Given the description of an element on the screen output the (x, y) to click on. 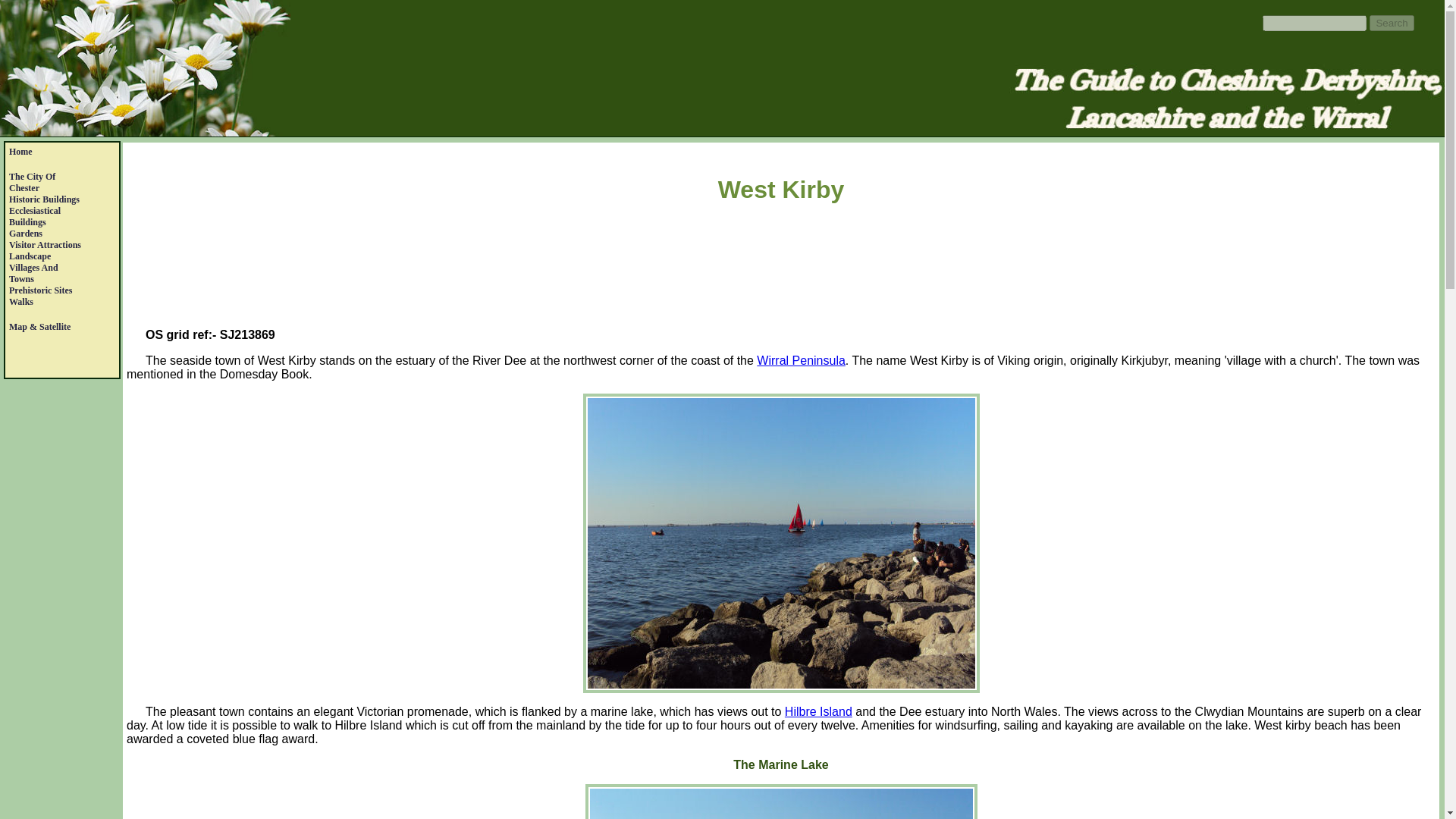
Advertisement (781, 268)
Search (1391, 23)
Search (1391, 23)
Walks (20, 301)
Gardens (33, 273)
Historic Buildings (25, 233)
Prehistoric Sites (44, 199)
Home (39, 290)
Wirral Peninsula (20, 151)
